Given the description of an element on the screen output the (x, y) to click on. 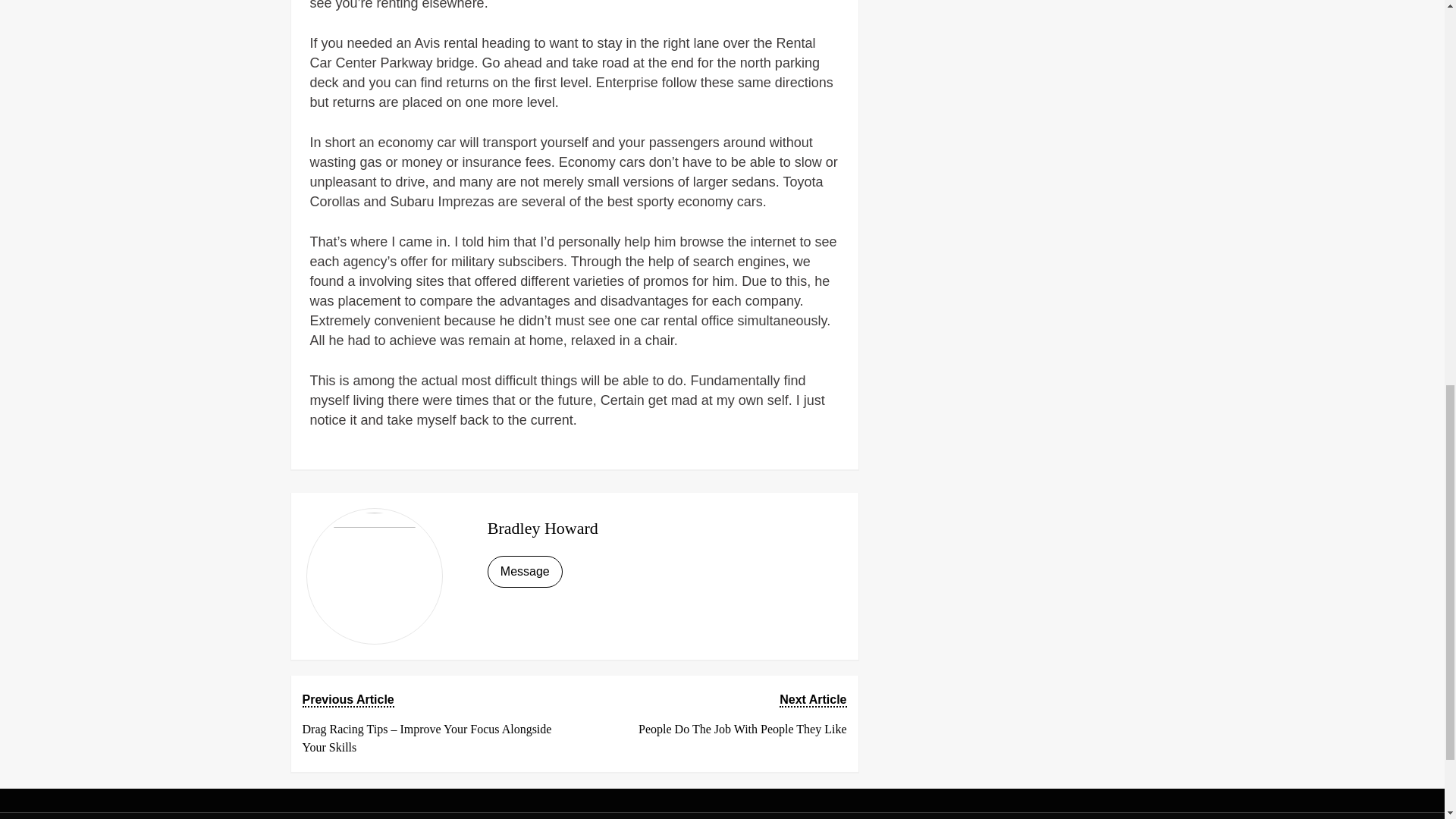
Bradley Howard (542, 527)
Message (524, 572)
Posts by Bradley Howard (715, 714)
